Given the description of an element on the screen output the (x, y) to click on. 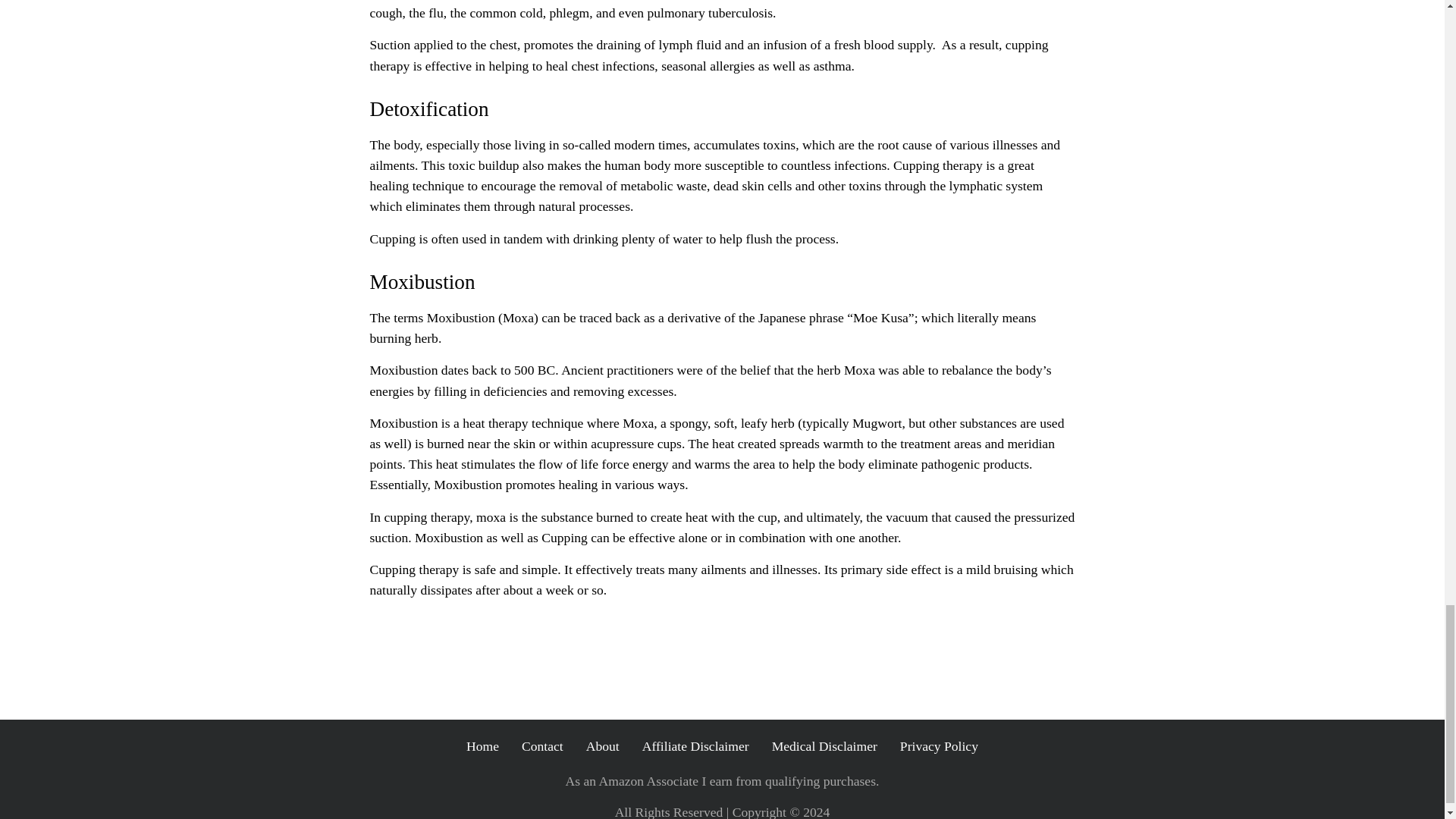
About (603, 745)
Contact (542, 745)
Affiliate Disclaimer (695, 745)
Privacy Policy (938, 745)
Medical Disclaimer (824, 745)
Home (482, 745)
